Given the description of an element on the screen output the (x, y) to click on. 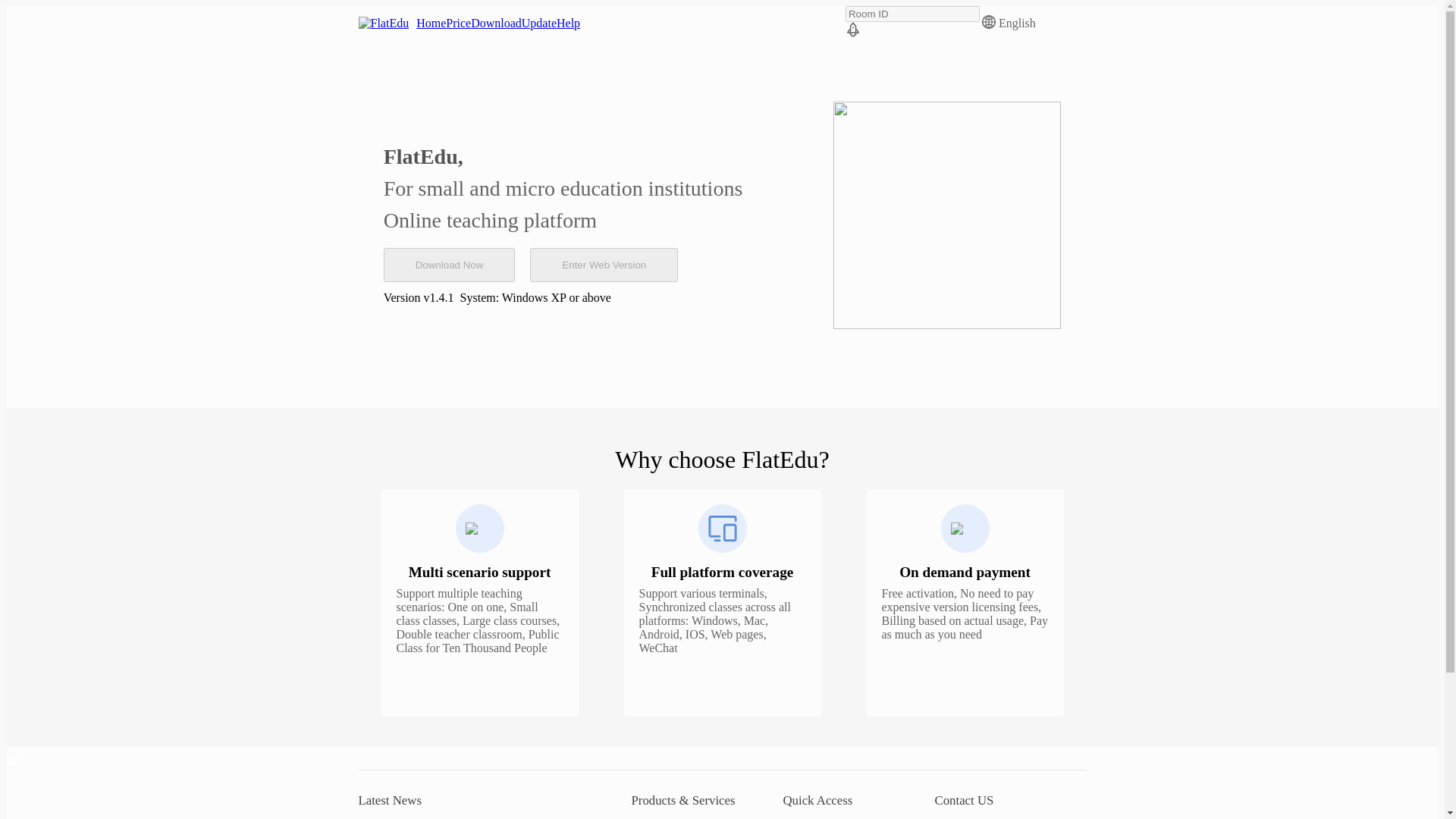
Price (457, 23)
Join Room (852, 32)
Enter Web Version (603, 264)
Download Now (449, 264)
Download Now (449, 256)
Download (495, 23)
FlatEdu (383, 23)
Enter Web Version (596, 256)
Update (538, 23)
Online Classroom (672, 817)
Home (430, 23)
Join Room (807, 817)
Help (567, 23)
